Given the description of an element on the screen output the (x, y) to click on. 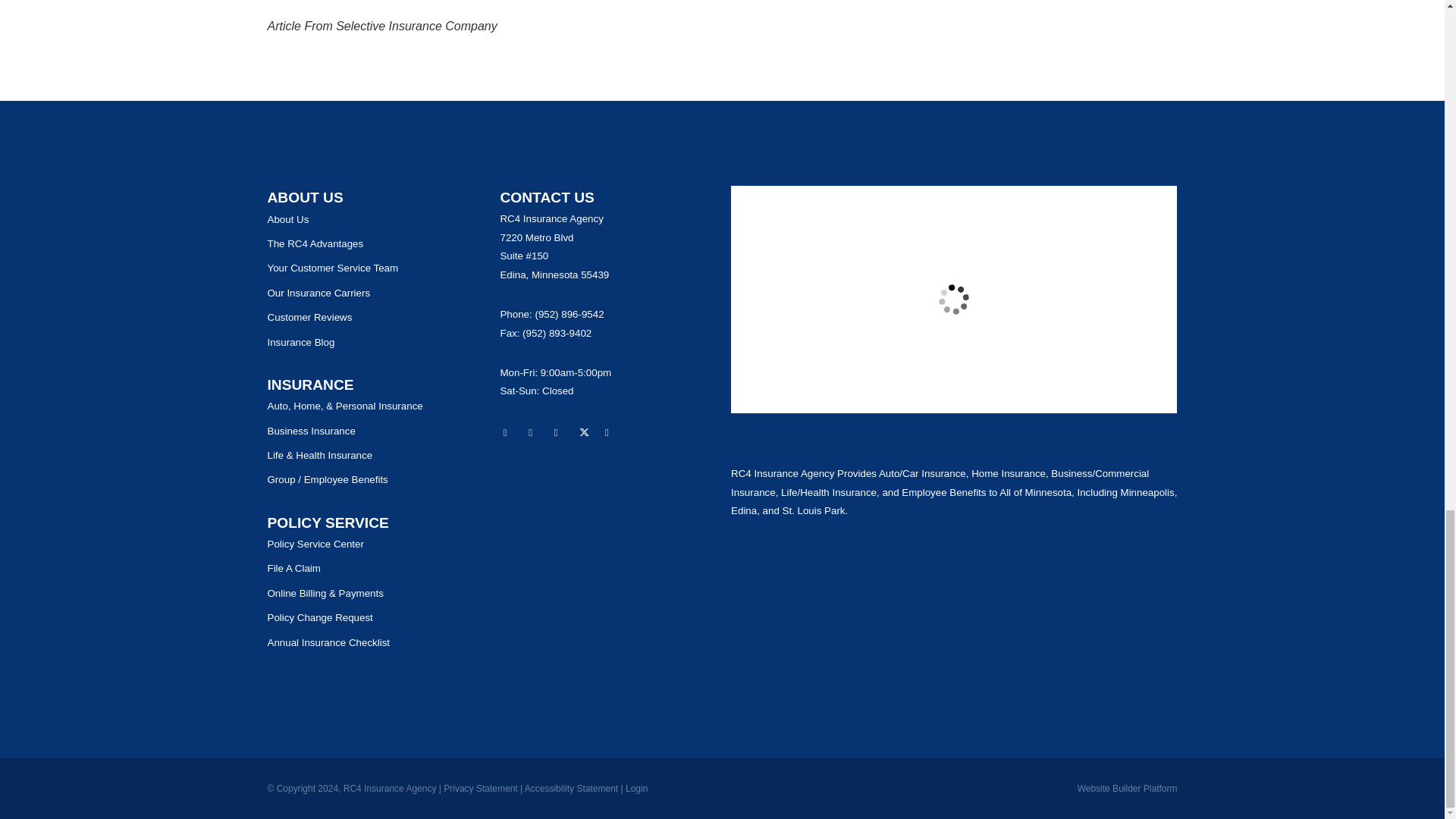
LinkedIn (612, 433)
Facebook (561, 433)
Google Maps (509, 433)
X (586, 433)
Yelp (535, 433)
